Given the description of an element on the screen output the (x, y) to click on. 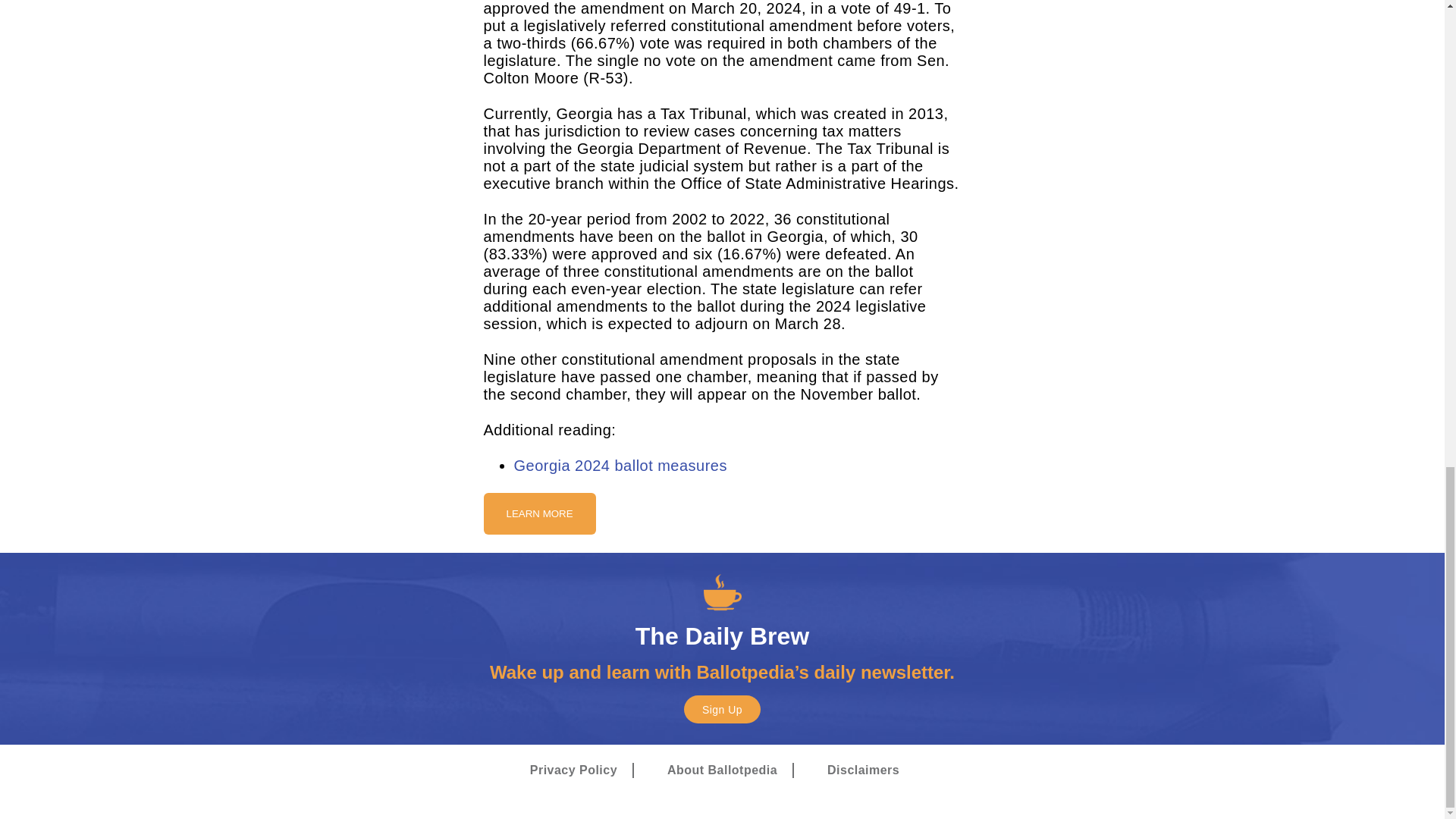
LEARN MORE (539, 512)
Sign Up (722, 709)
LEARN MORE (539, 513)
Georgia 2024 ballot measures (619, 464)
Privacy Policy (573, 770)
Disclaimers (863, 770)
About Ballotpedia (721, 770)
